Given the description of an element on the screen output the (x, y) to click on. 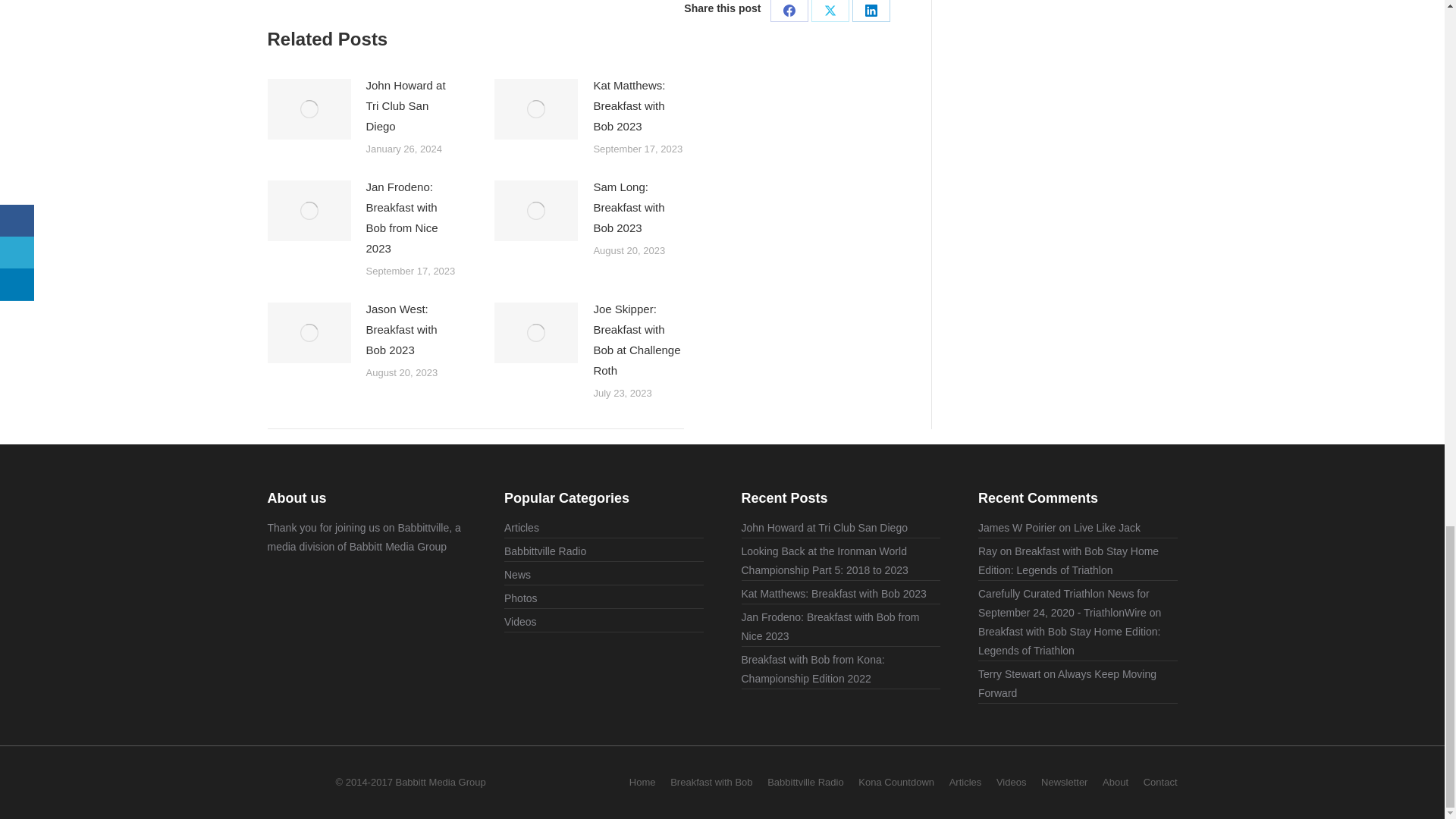
X (829, 11)
Facebook (789, 11)
LinkedIn (870, 11)
